Given the description of an element on the screen output the (x, y) to click on. 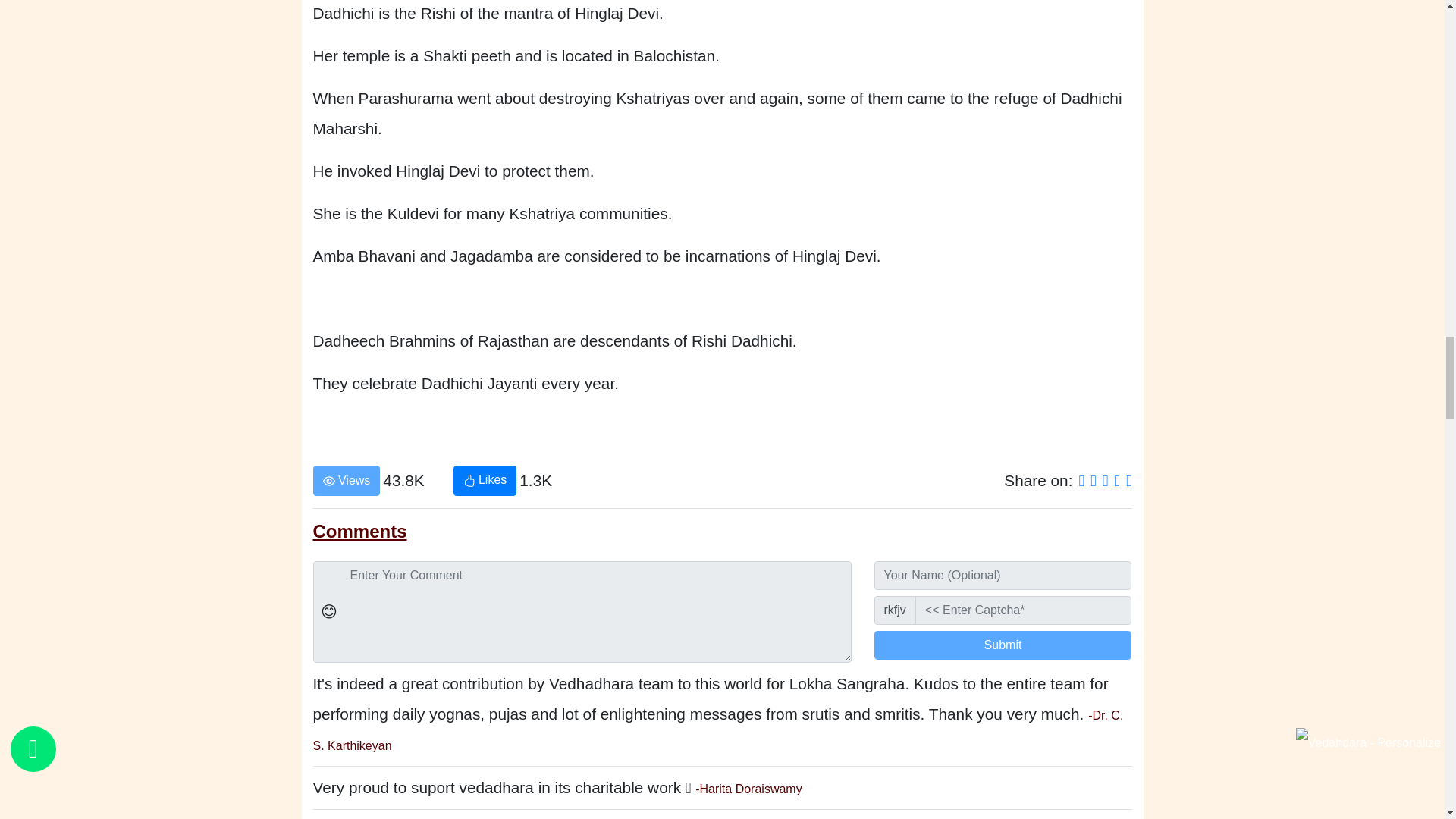
Submit (1002, 645)
Views (346, 481)
Likes (484, 481)
